Given the description of an element on the screen output the (x, y) to click on. 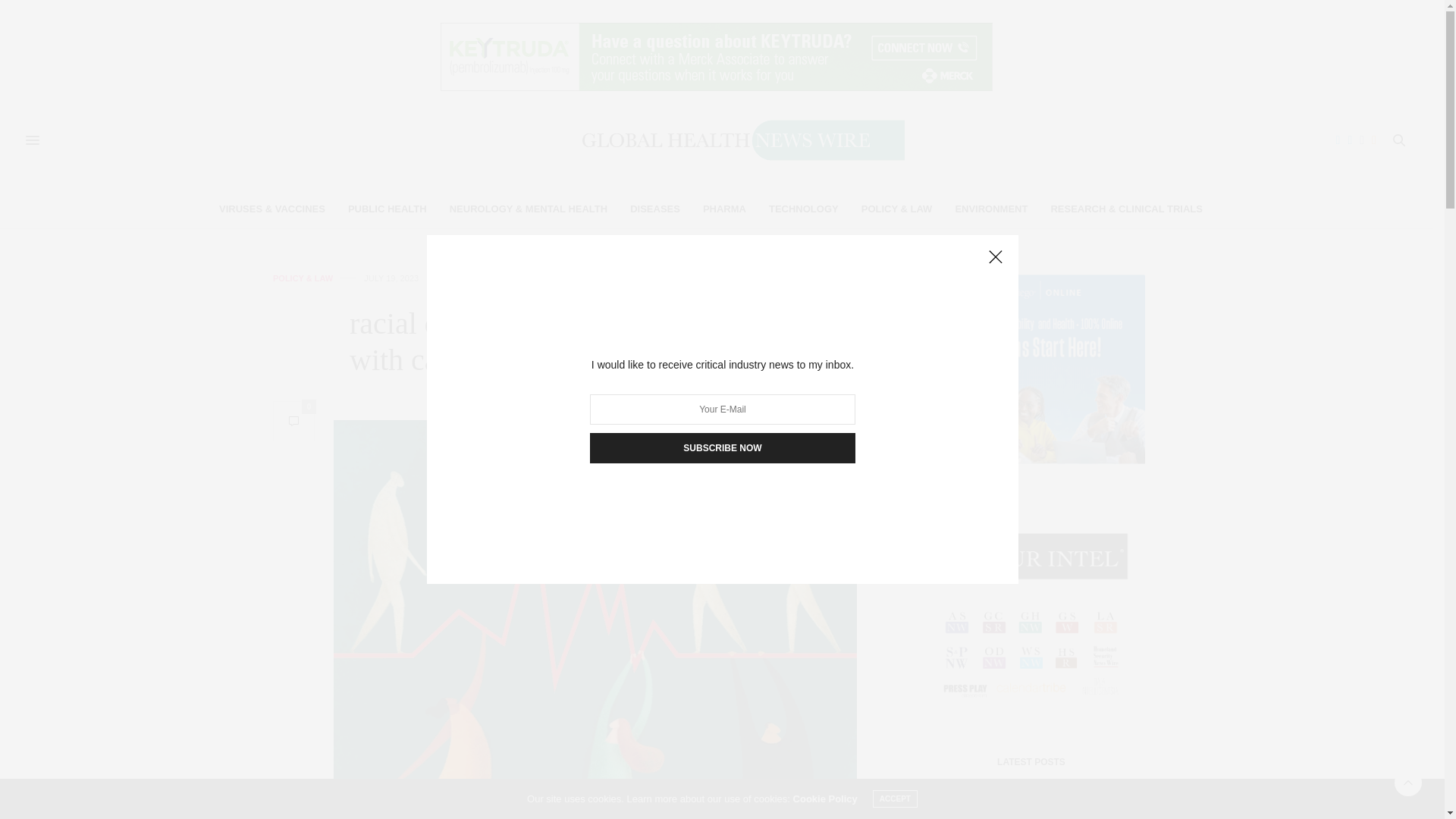
ENVIRONMENT (991, 209)
HarvestHub App Tackles Supply Chain, Food Insecurity Issues (951, 805)
TECHNOLOGY (803, 209)
Global Health News Wire (716, 140)
PHARMA (724, 209)
HarvestHub App Tackles Supply Chain, Food Insecurity Issues (1066, 809)
SUBSCRIBE NOW (722, 448)
PUBLIC HEALTH (386, 209)
HarvestHub App Tackles Supply Chain, Food Insecurity Issues (957, 805)
0 (293, 421)
DISEASES (654, 209)
